Given the description of an element on the screen output the (x, y) to click on. 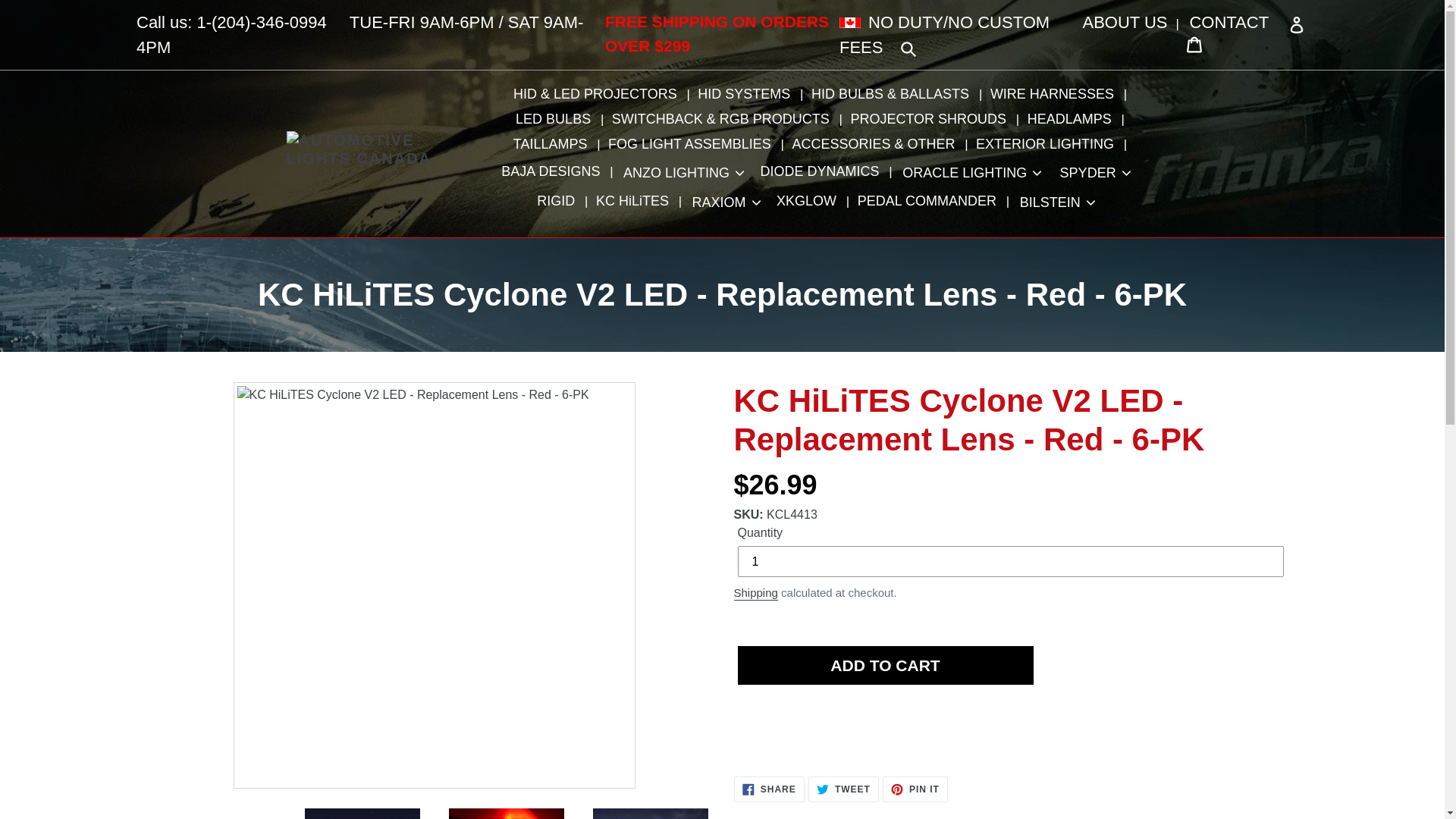
HID SYSTEMS (747, 94)
ABOUT US (1125, 22)
1 (1009, 561)
WIRE HARNESSES (1055, 94)
BAJA DESIGNS (553, 171)
TAILLAMPS (553, 144)
Log in (1238, 33)
HEADLAMPS (1073, 119)
EXTERIOR LIGHTING (1048, 144)
FOG LIGHT ASSEMBLIES (692, 144)
PROJECTOR SHROUDS (930, 119)
Search (909, 47)
CONTACT (1228, 22)
Cart (1194, 43)
LED BULBS (556, 119)
